Given the description of an element on the screen output the (x, y) to click on. 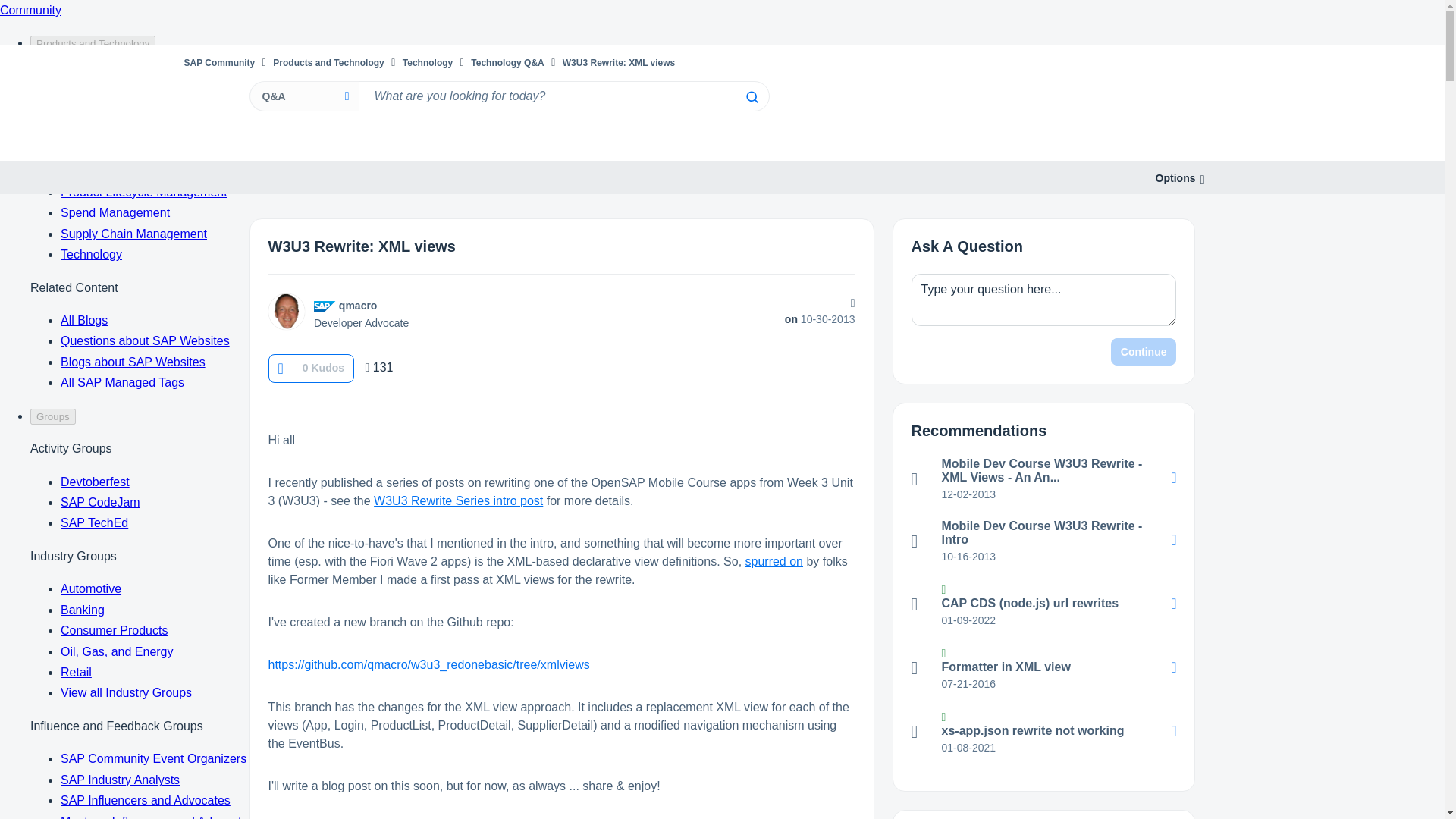
Search Granularity (303, 96)
Products and Technology (328, 62)
Search (750, 96)
SAP Community (218, 62)
The total number of kudos this post has received. (323, 367)
W3U3 Rewrite Series intro post (458, 500)
Continue (1143, 351)
Options (1176, 178)
Click here to give kudos to this post. (279, 367)
qmacro (358, 305)
